Given the description of an element on the screen output the (x, y) to click on. 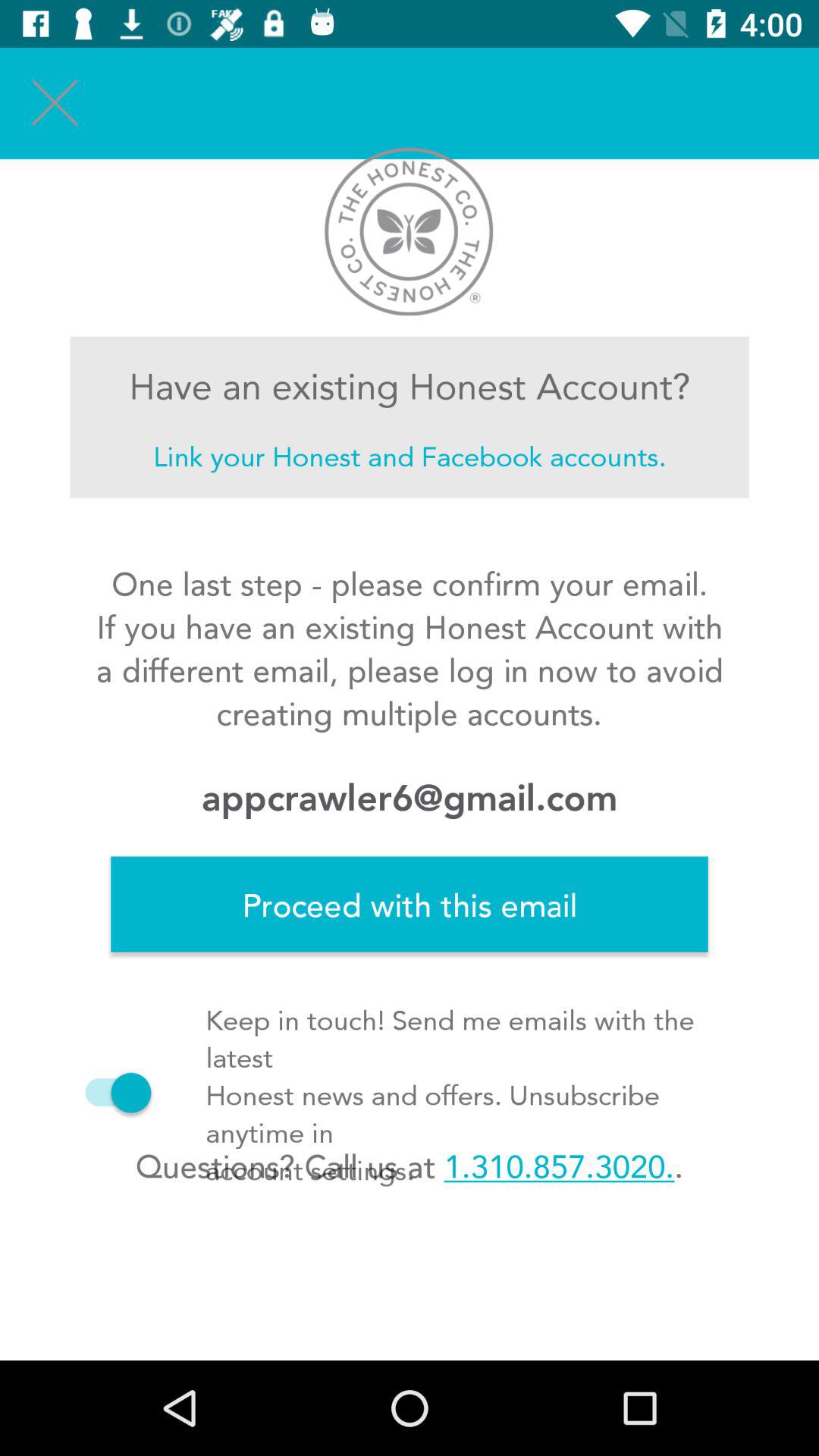
turn on the item above the have an existing icon (55, 103)
